Given the description of an element on the screen output the (x, y) to click on. 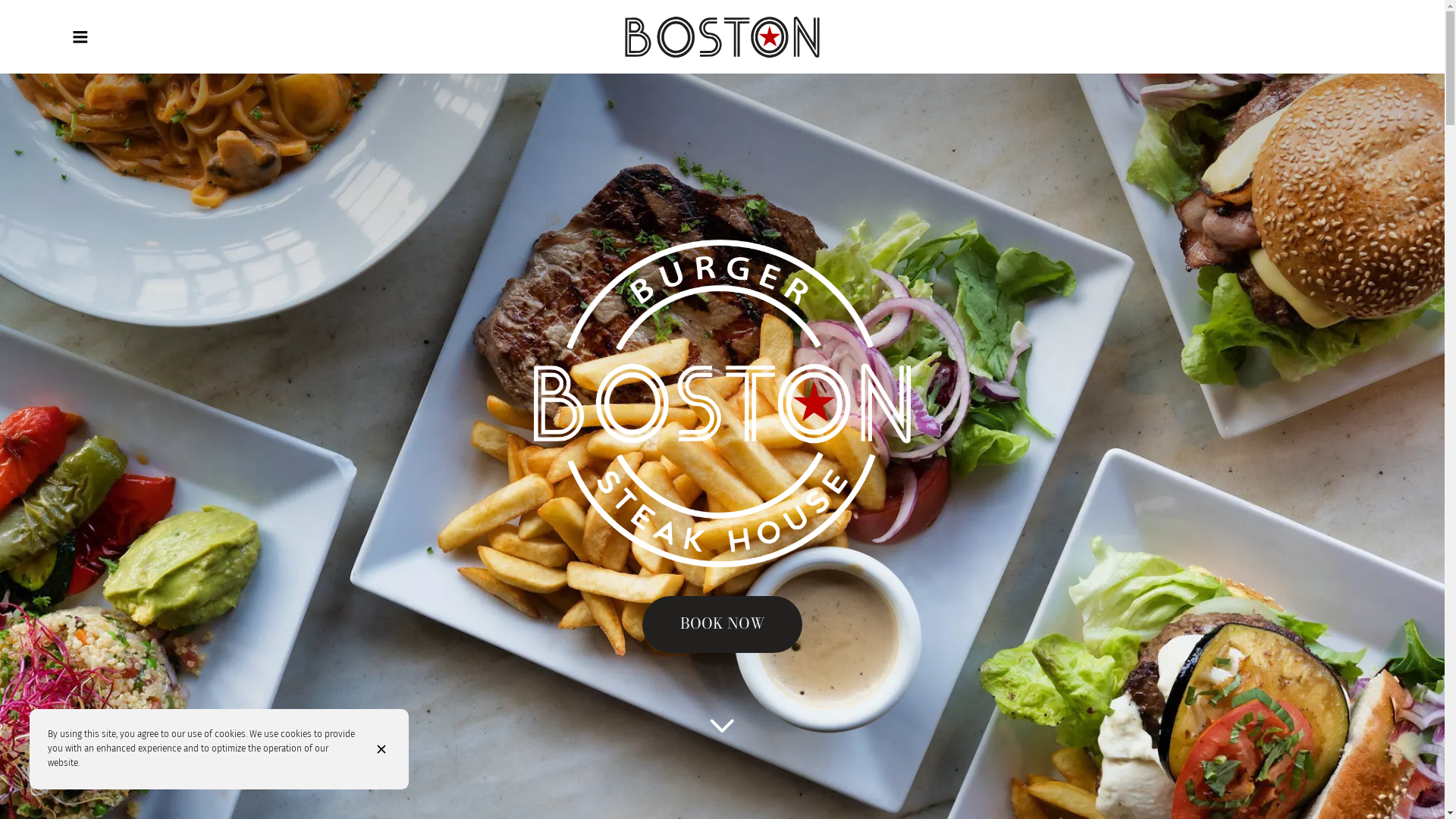
Logo of Boston Steak House Element type: hover (721, 36)
Close the cookie information banner Element type: hover (383, 748)
BOOK NOW Element type: text (721, 624)
BOSTON STEAK HOUSE Element type: text (721, 36)
